Given the description of an element on the screen output the (x, y) to click on. 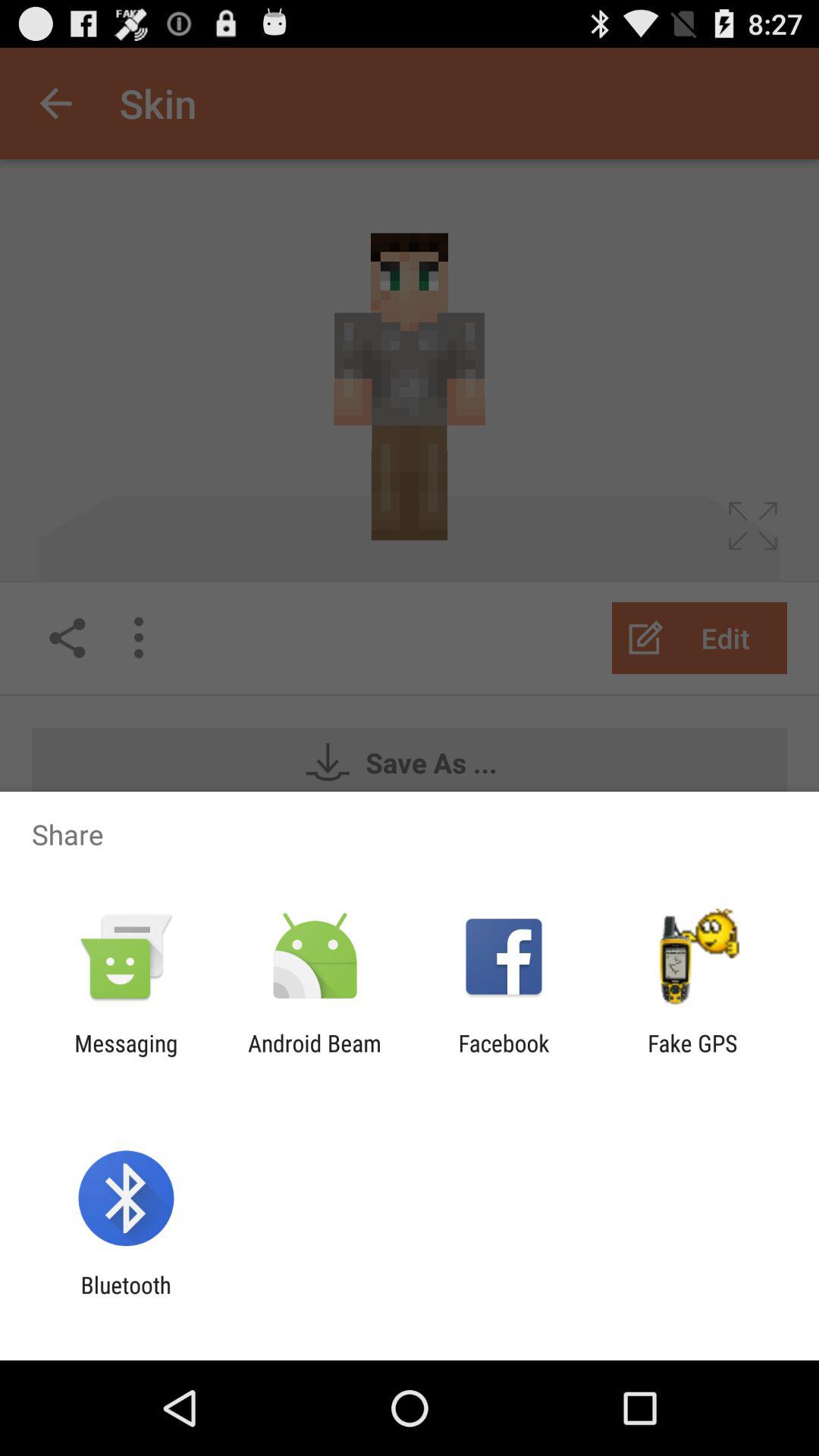
click the icon next to android beam item (503, 1056)
